Given the description of an element on the screen output the (x, y) to click on. 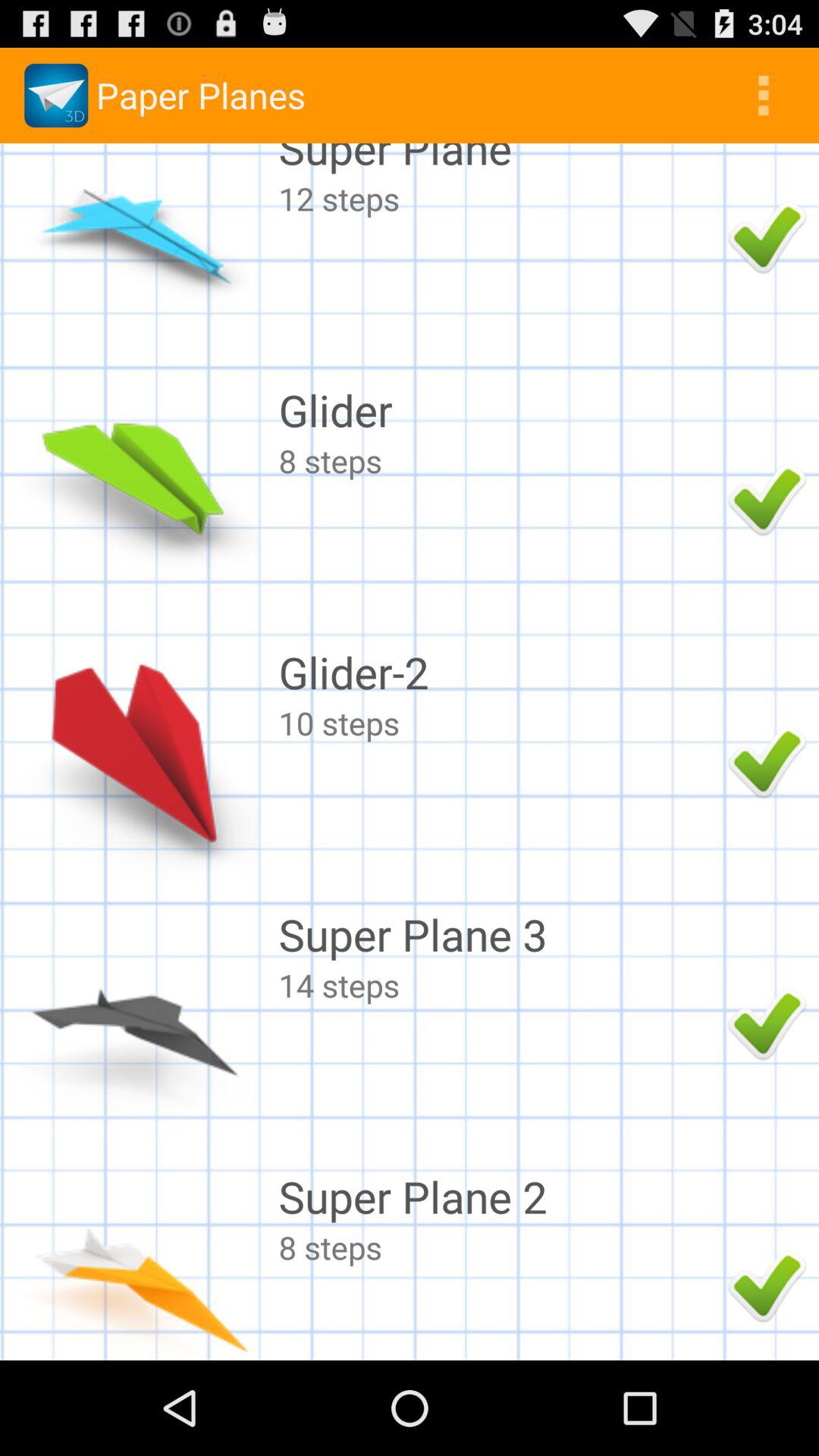
press the item above super plane 2 app (498, 984)
